Given the description of an element on the screen output the (x, y) to click on. 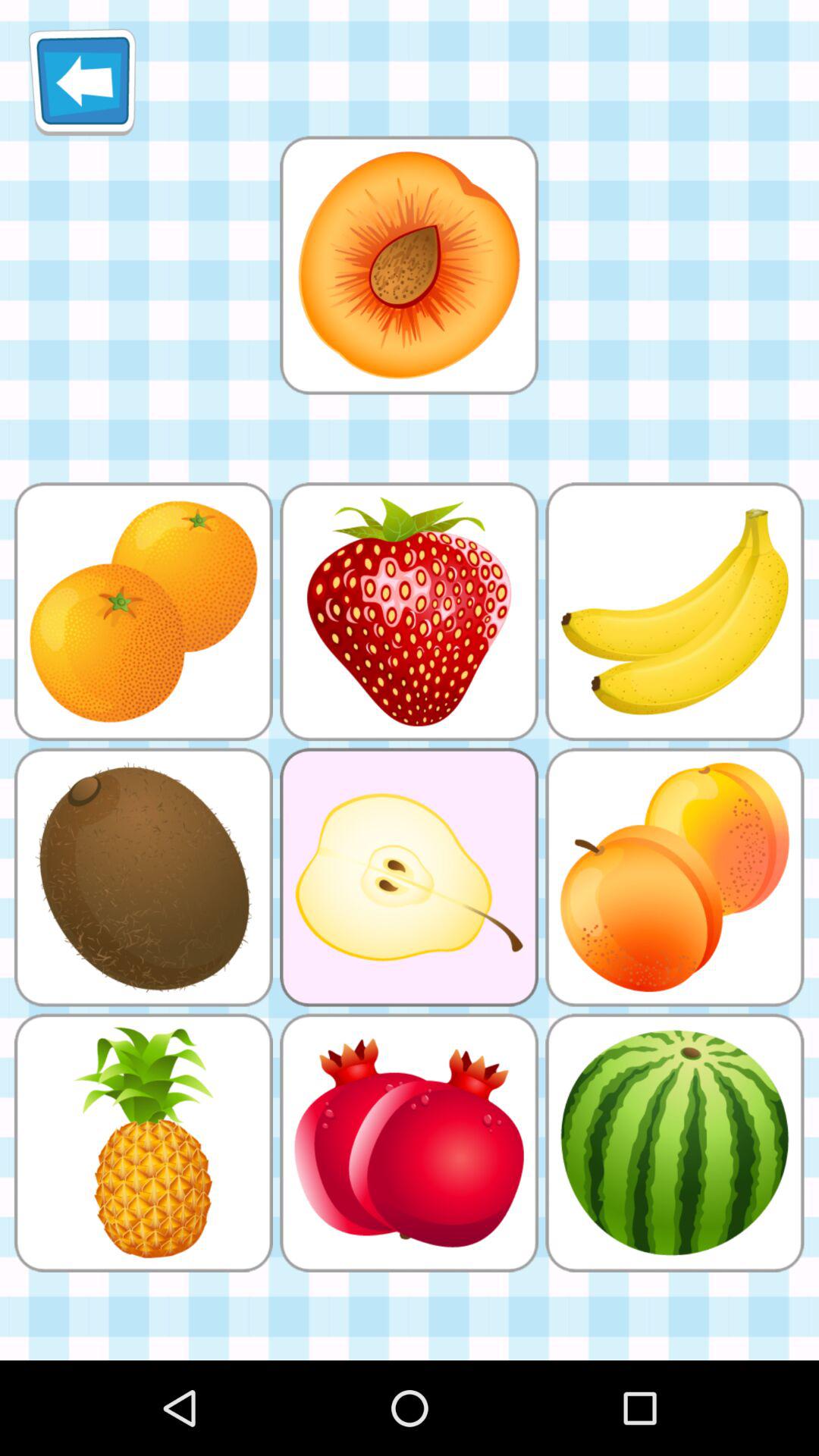
peach (409, 265)
